Given the description of an element on the screen output the (x, y) to click on. 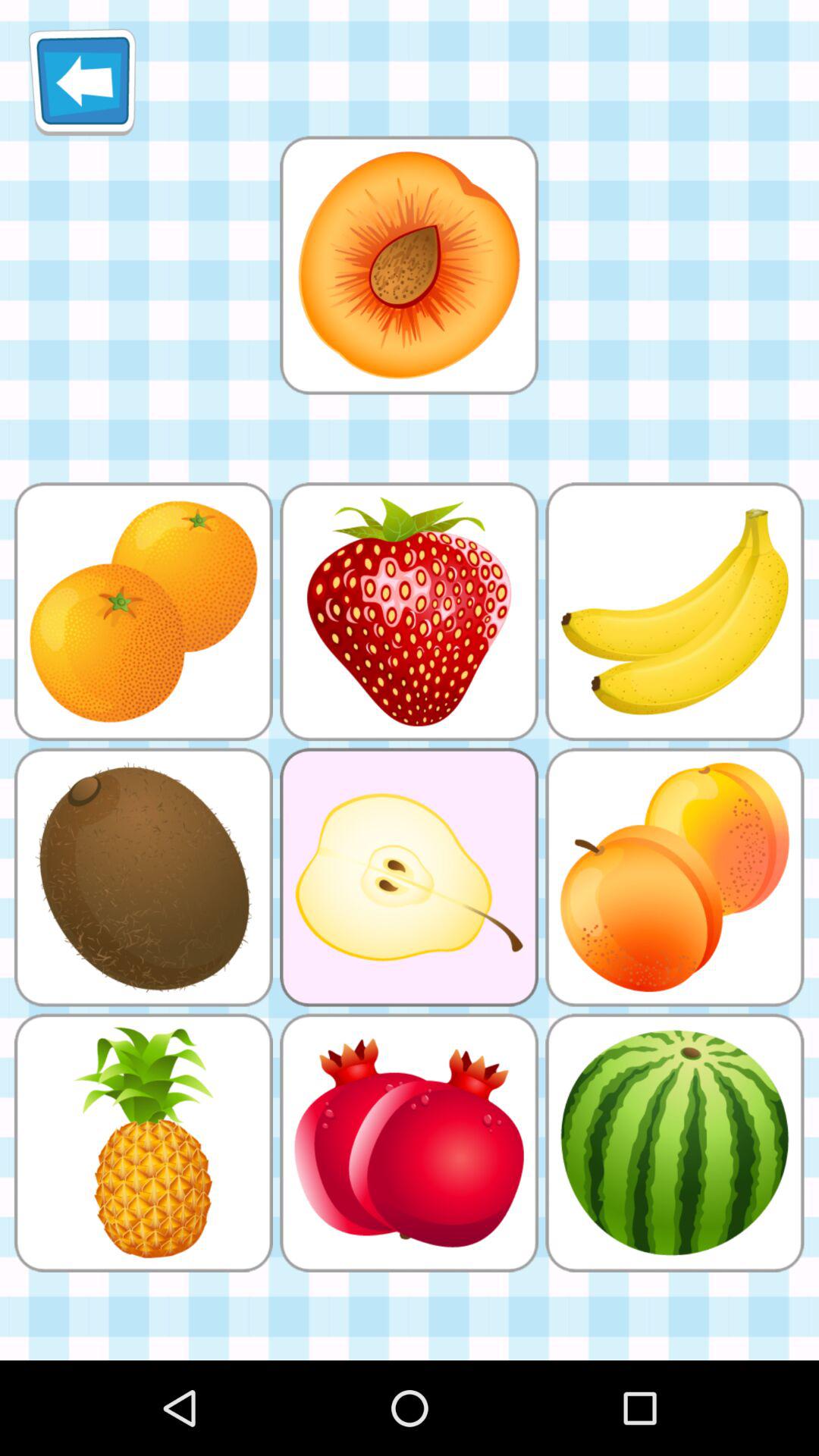
peach (409, 265)
